Given the description of an element on the screen output the (x, y) to click on. 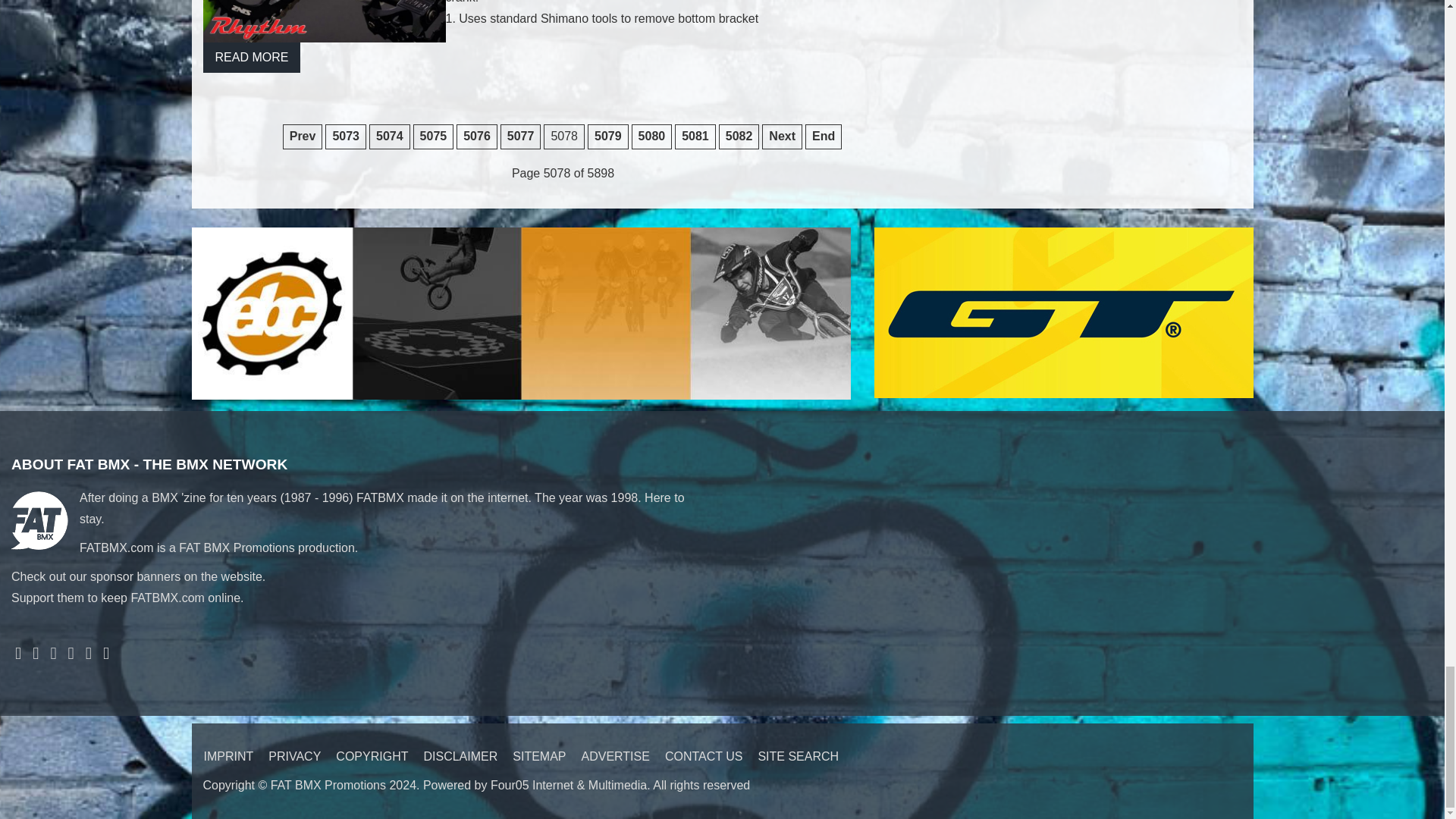
5074 (389, 136)
5080 (651, 136)
Next (781, 136)
5075 (433, 136)
Prev (302, 136)
5079 (608, 136)
5077 (520, 136)
5073 (345, 136)
5081 (695, 136)
5076 (477, 136)
5082 (739, 136)
End (823, 136)
